Given the description of an element on the screen output the (x, y) to click on. 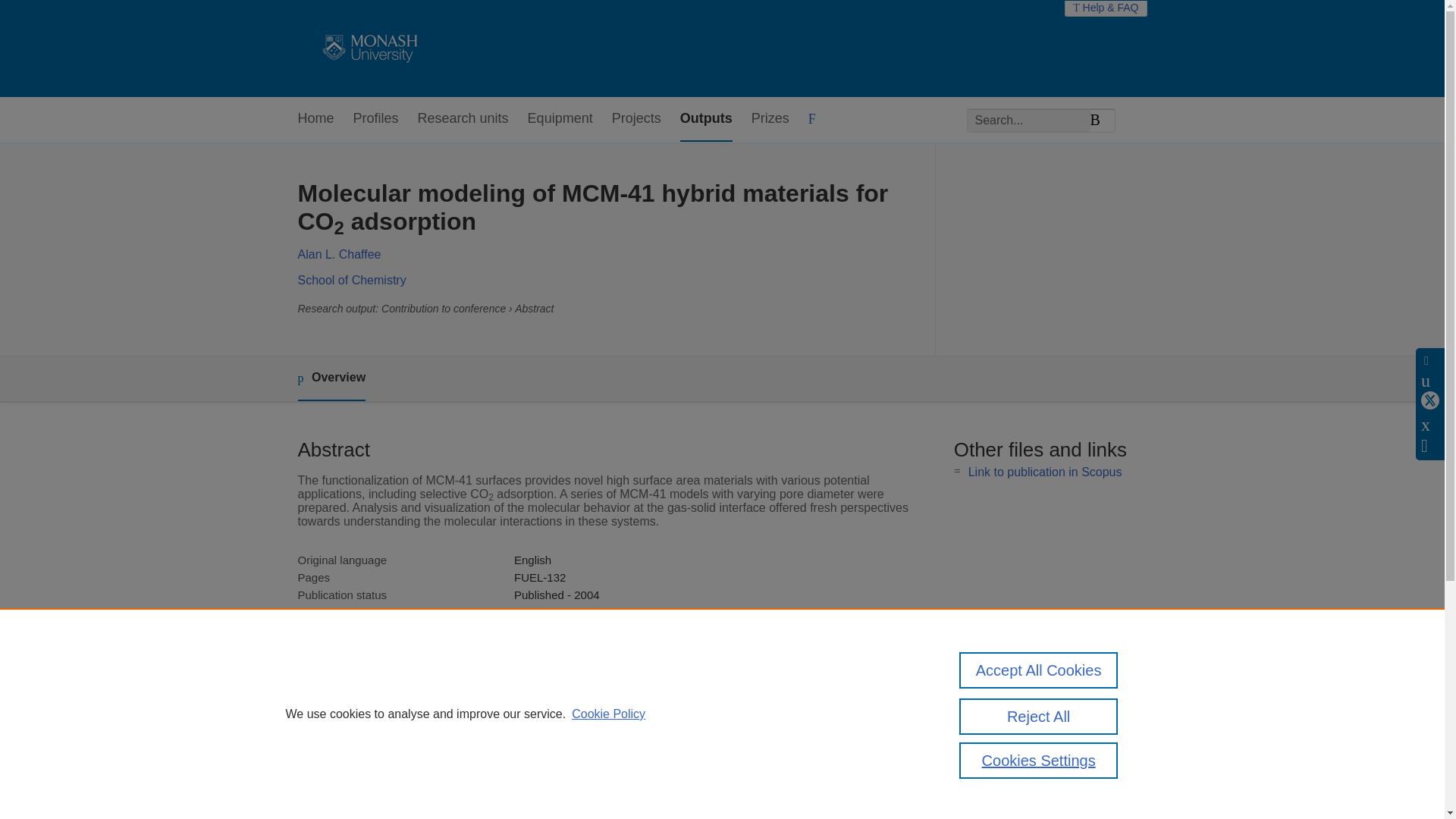
Cookies Settings (1038, 760)
Alan L. Chaffee (338, 254)
Accept All Cookies (1038, 669)
Projects (636, 119)
School of Chemistry (351, 279)
Profiles (375, 119)
Research units (462, 119)
Outputs (705, 119)
Link to publication in Scopus (1045, 472)
ACS National Meeting 2004 (583, 612)
Equipment (559, 119)
Reject All (1038, 716)
Cookie Policy (608, 713)
Monash University Home (366, 48)
